Given the description of an element on the screen output the (x, y) to click on. 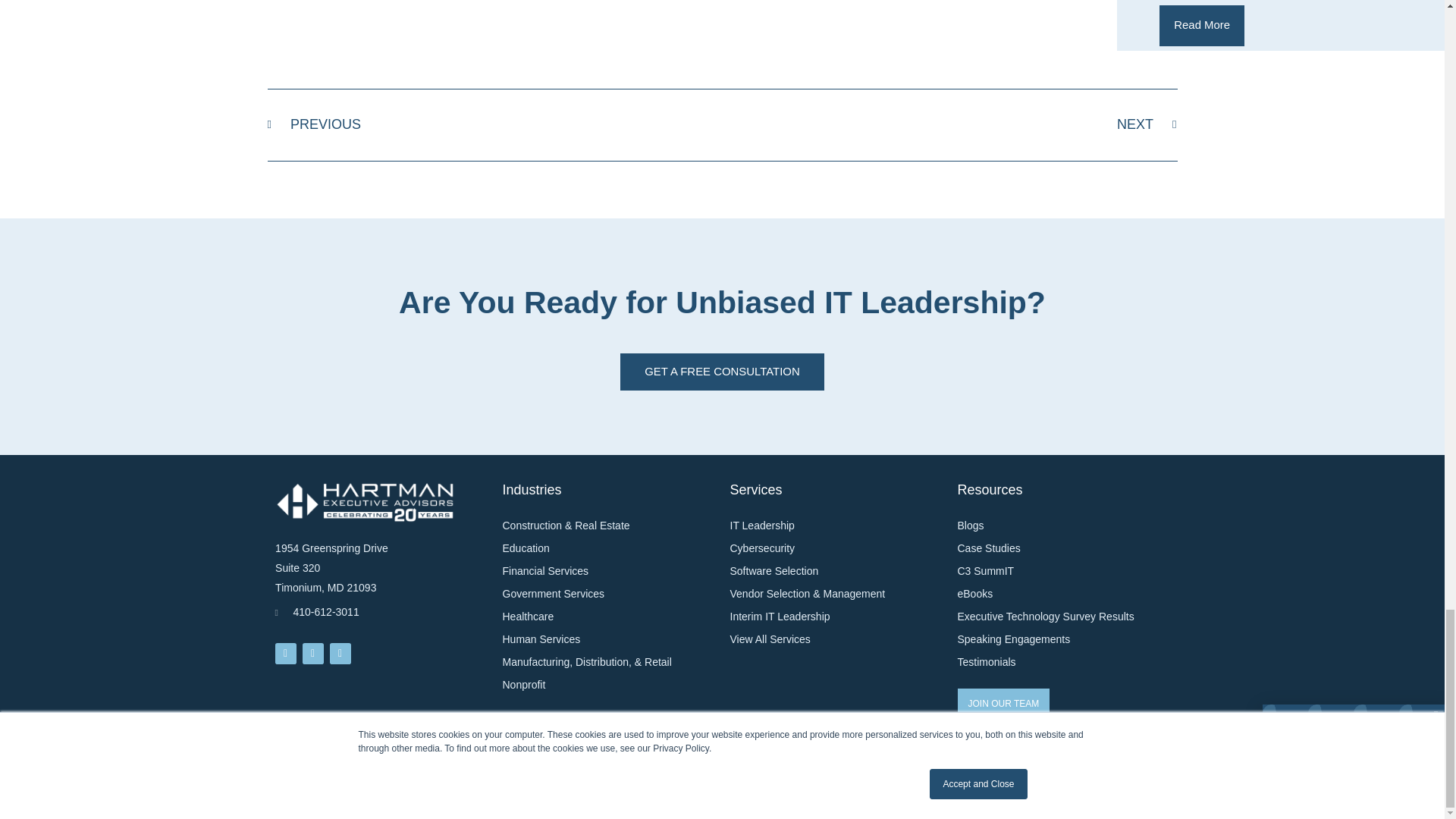
Twitter (312, 653)
Linkedin (339, 653)
Facebook (285, 653)
Read More (494, 124)
GET A FREE CONSULTATION (1201, 24)
410-612-3011 (949, 124)
